Given the description of an element on the screen output the (x, y) to click on. 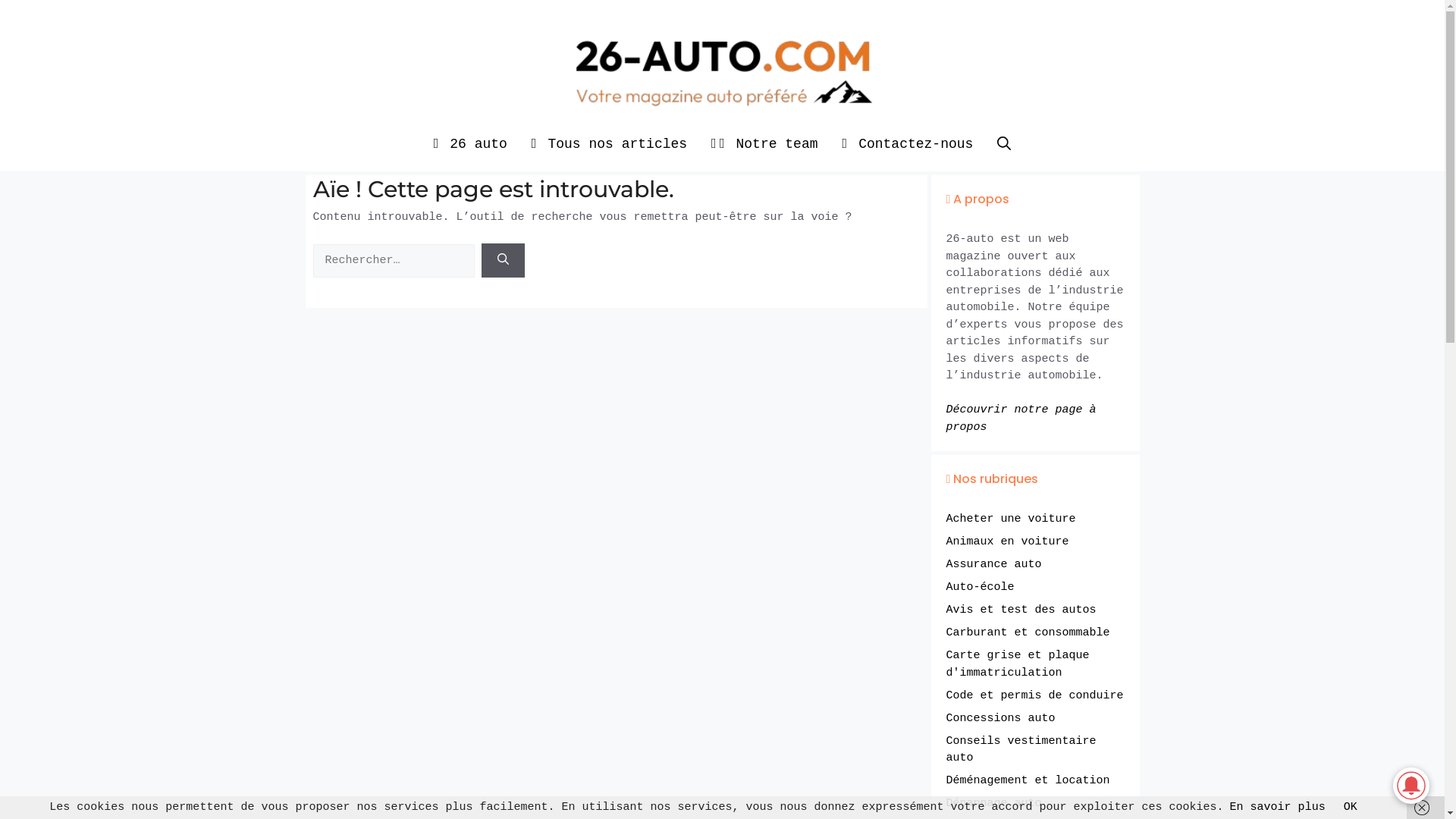
Code et permis de conduire Element type: text (1034, 695)
OK Element type: text (1350, 806)
Avis et test des autos Element type: text (1021, 609)
Animaux en voiture Element type: text (1007, 541)
Concessions auto Element type: text (1000, 718)
Carburant et consommable Element type: text (1028, 632)
Carte grise et plaque d'immatriculation Element type: text (1017, 664)
En savoir plus Element type: text (1277, 806)
Assurance auto Element type: text (993, 564)
Conseils vestimentaire auto Element type: text (1021, 749)
Acheter une voiture Element type: text (1011, 518)
